Given the description of an element on the screen output the (x, y) to click on. 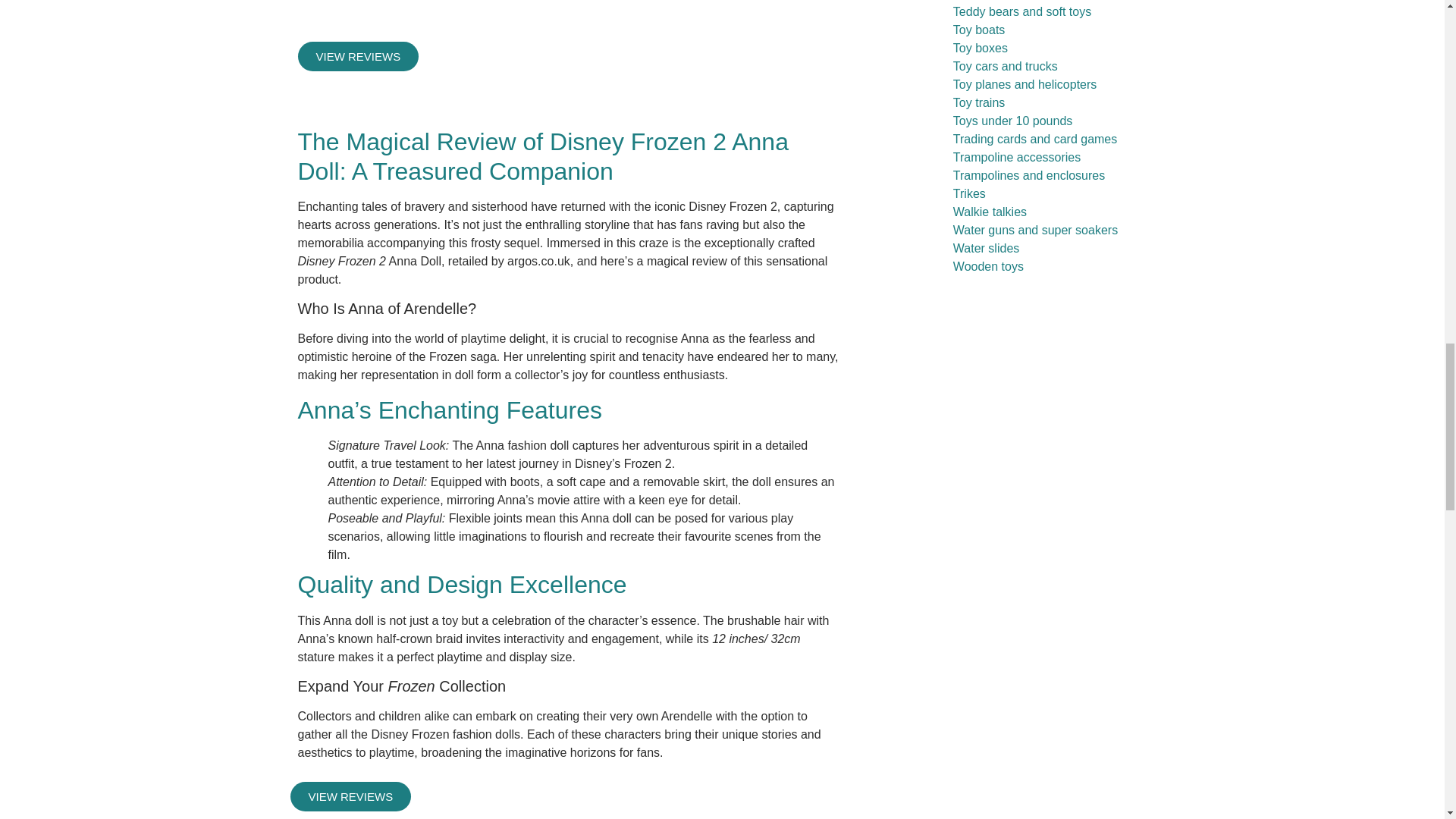
VIEW REVIEWS (358, 56)
